Given the description of an element on the screen output the (x, y) to click on. 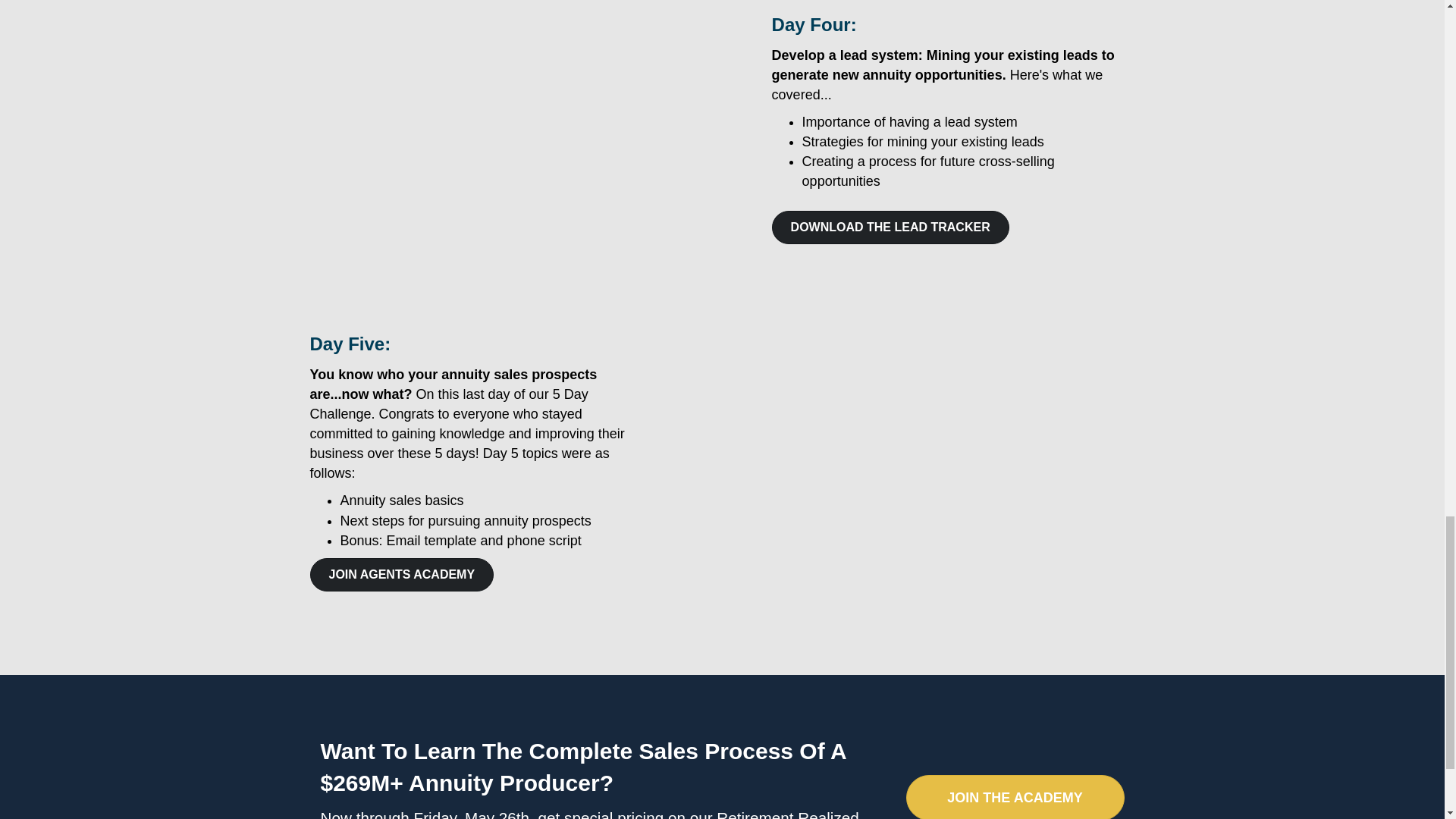
JOIN AGENTS ACADEMY (400, 574)
JOIN THE ACADEMY (1014, 796)
DOWNLOAD THE LEAD TRACKER (890, 227)
